Given the description of an element on the screen output the (x, y) to click on. 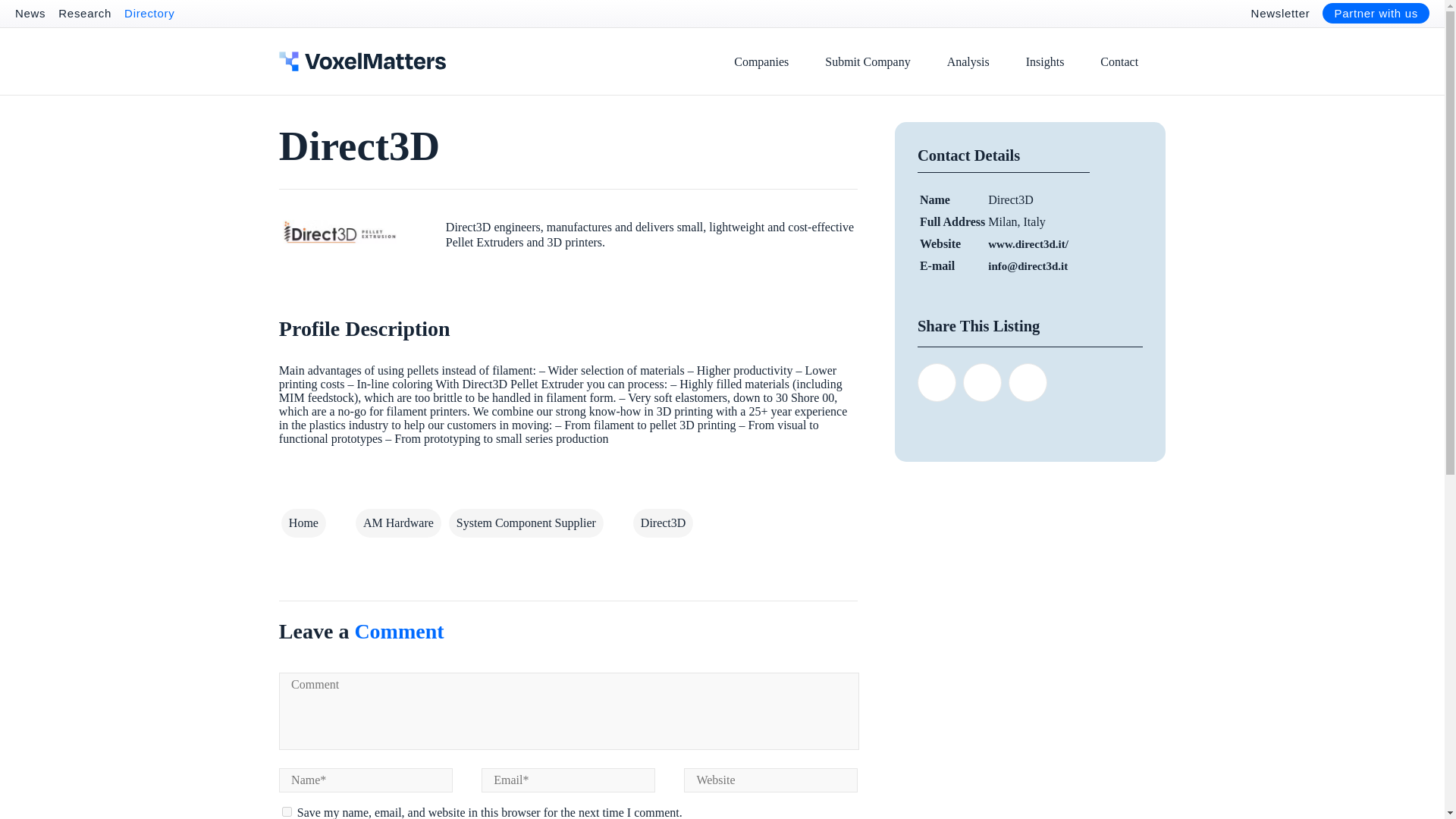
Analysis (967, 61)
yes (287, 811)
News (29, 12)
Insights (1045, 61)
System Component Supplier (526, 522)
Directory (148, 12)
Newsletter (1280, 12)
Home (303, 522)
Direct3D (663, 522)
AM Hardware (398, 522)
